Given the description of an element on the screen output the (x, y) to click on. 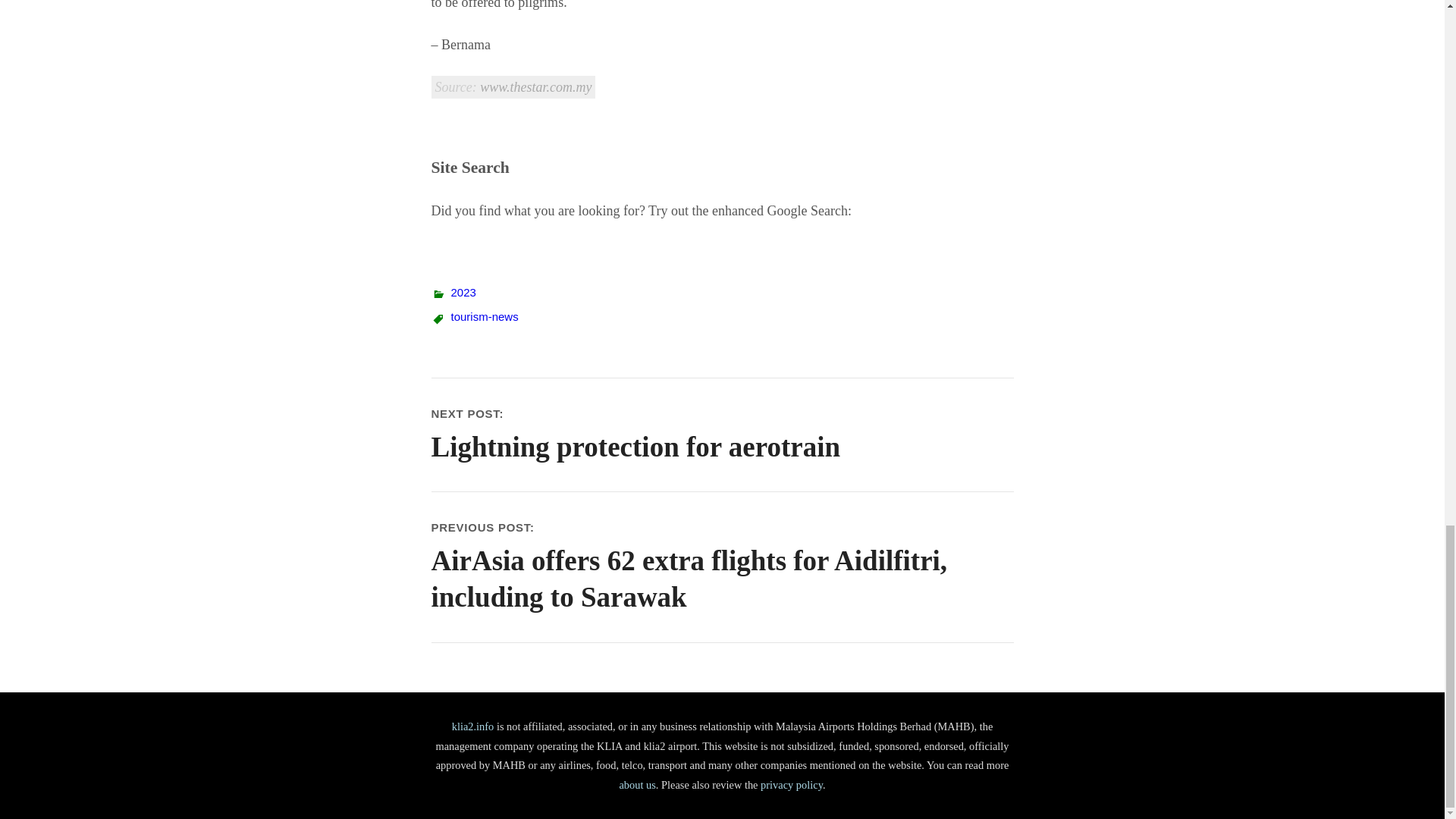
privacy policy (791, 784)
klia2.info (473, 726)
about us (636, 784)
tourism-news (483, 316)
2023 (721, 435)
www.thestar.com.my (462, 291)
